Given the description of an element on the screen output the (x, y) to click on. 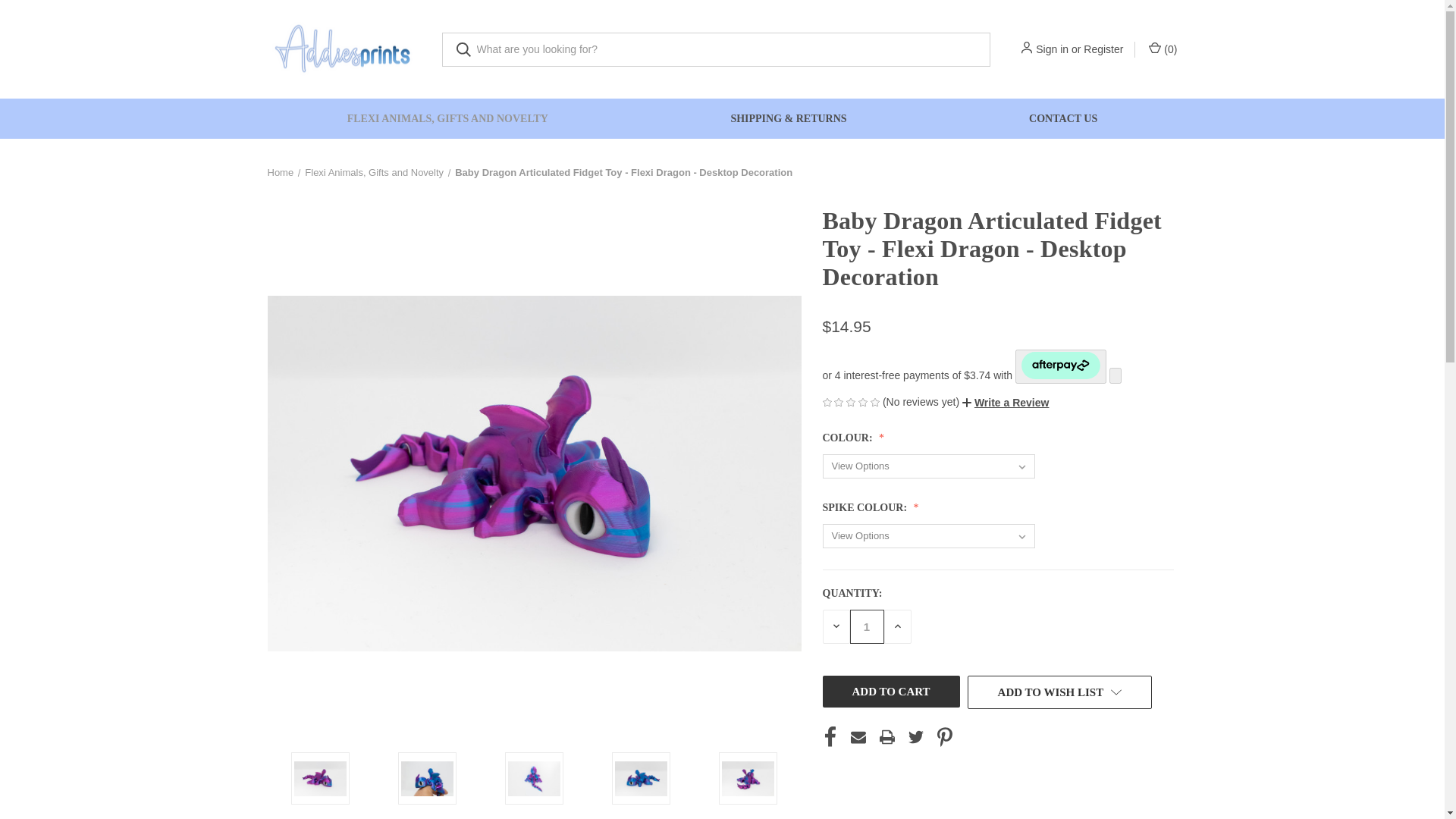
Home (280, 172)
Addies Prints (342, 49)
Write a Review (1005, 402)
Write a Review (1005, 402)
Add to Cart (890, 690)
CONTACT US (1063, 118)
